Given the description of an element on the screen output the (x, y) to click on. 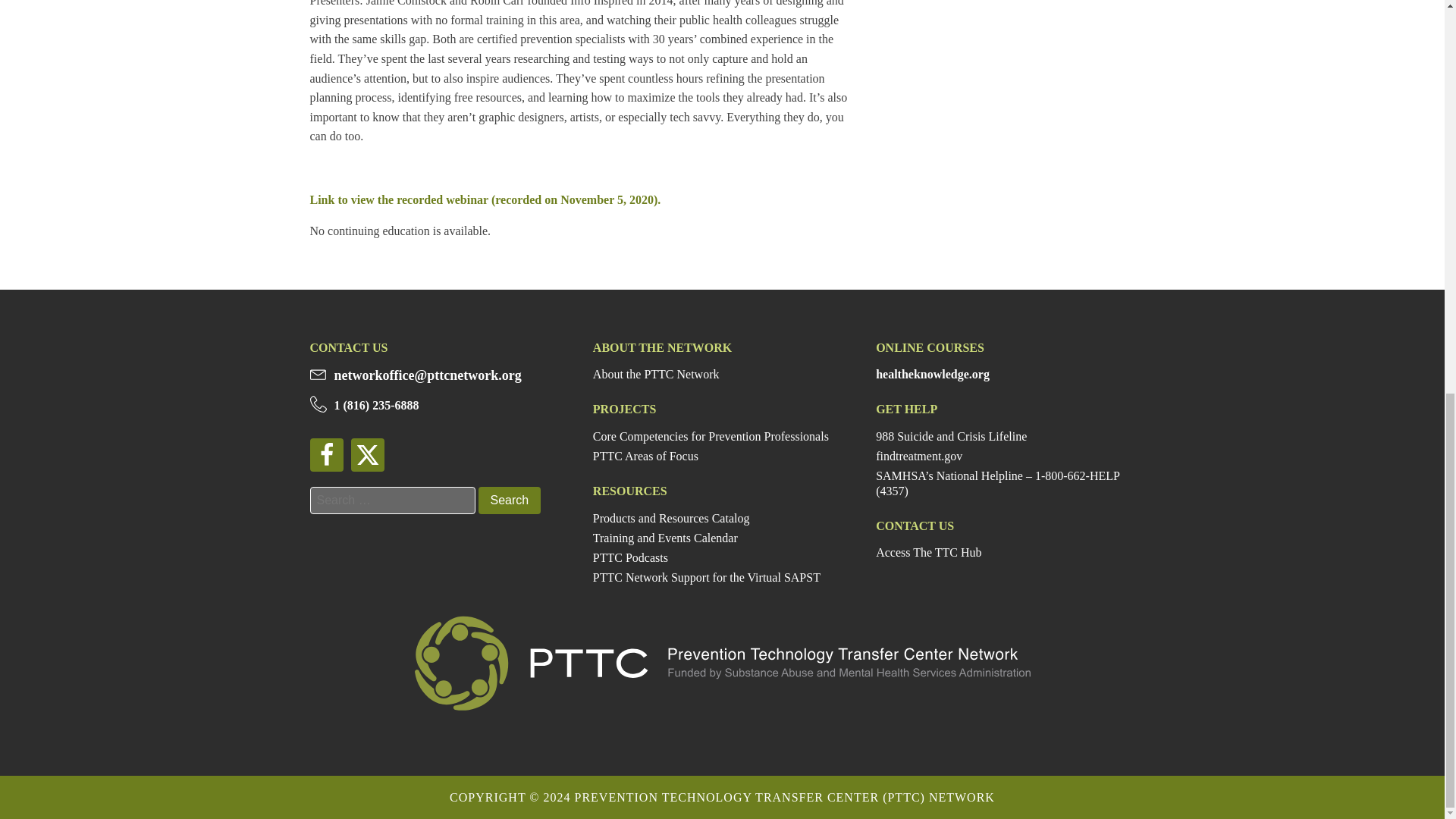
Search (508, 500)
Search (508, 500)
